Given the description of an element on the screen output the (x, y) to click on. 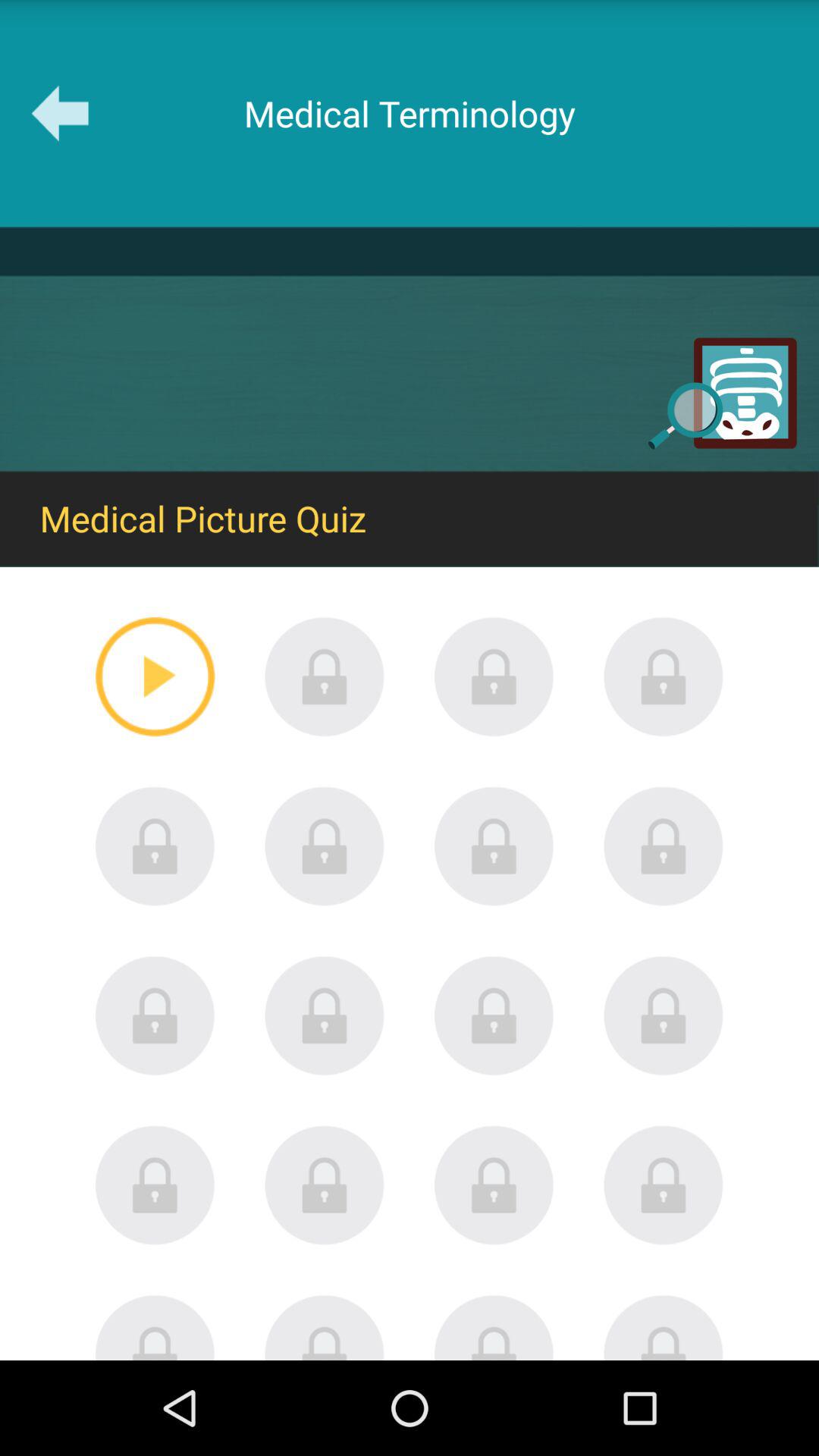
unlock question (663, 1015)
